Given the description of an element on the screen output the (x, y) to click on. 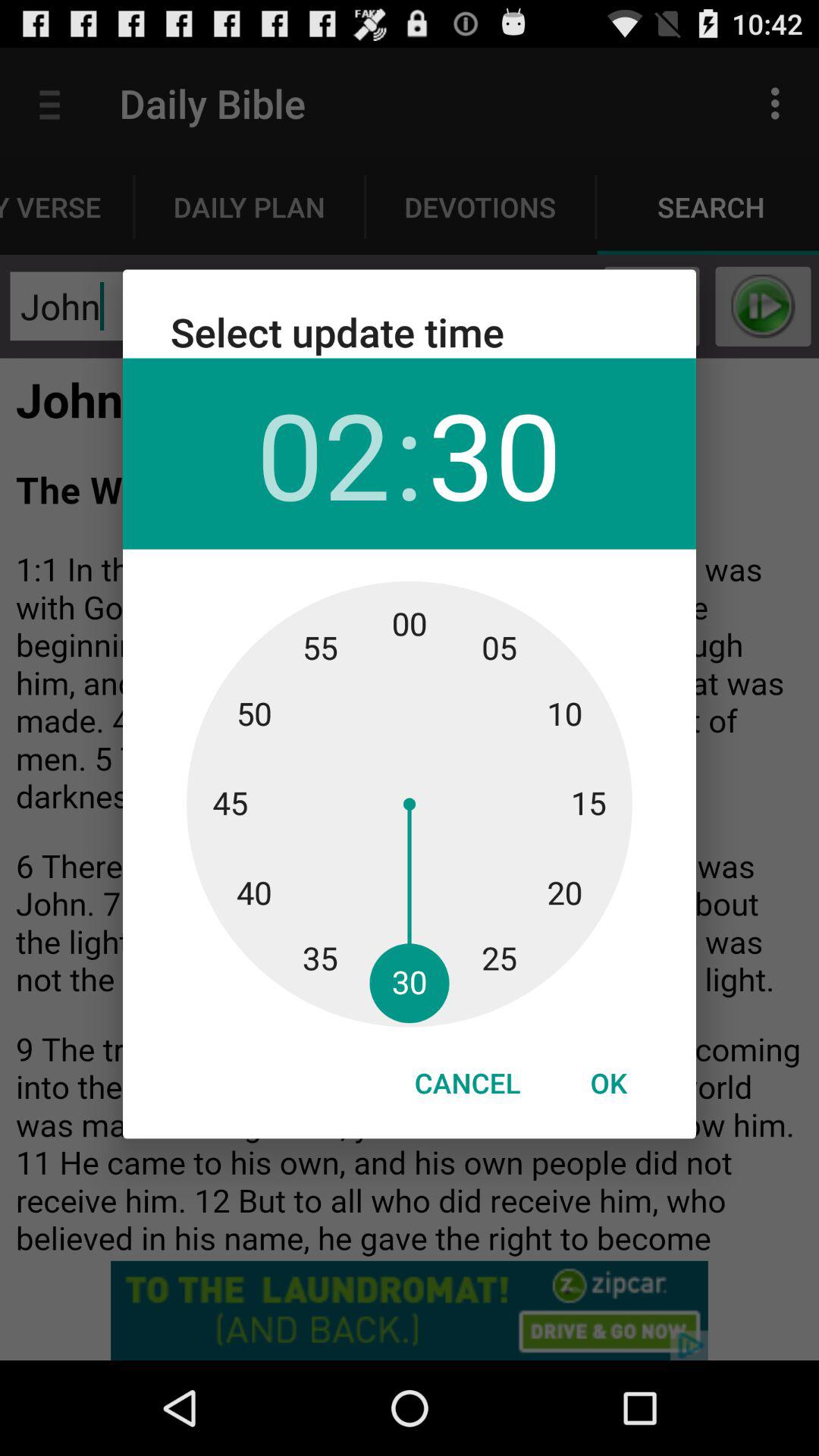
press icon next to the cancel icon (608, 1082)
